Given the description of an element on the screen output the (x, y) to click on. 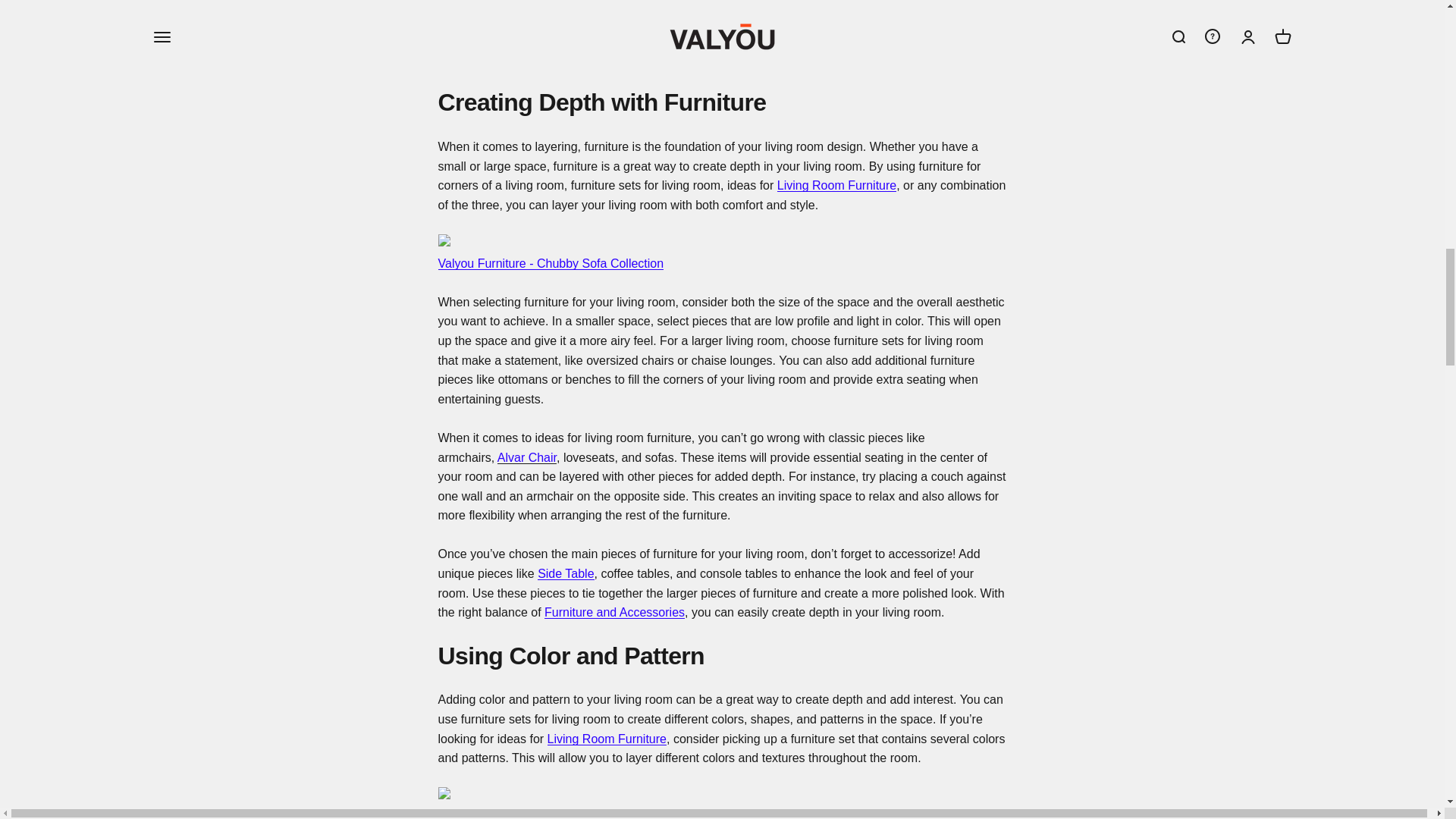
Bedroom furniture (606, 738)
Bedroom furniture (614, 612)
Chubby sofa collection (550, 263)
Bedroom furniture (565, 573)
Bedroom furniture (836, 185)
Bedroom furniture (459, 3)
Living room table (521, 814)
